Given the description of an element on the screen output the (x, y) to click on. 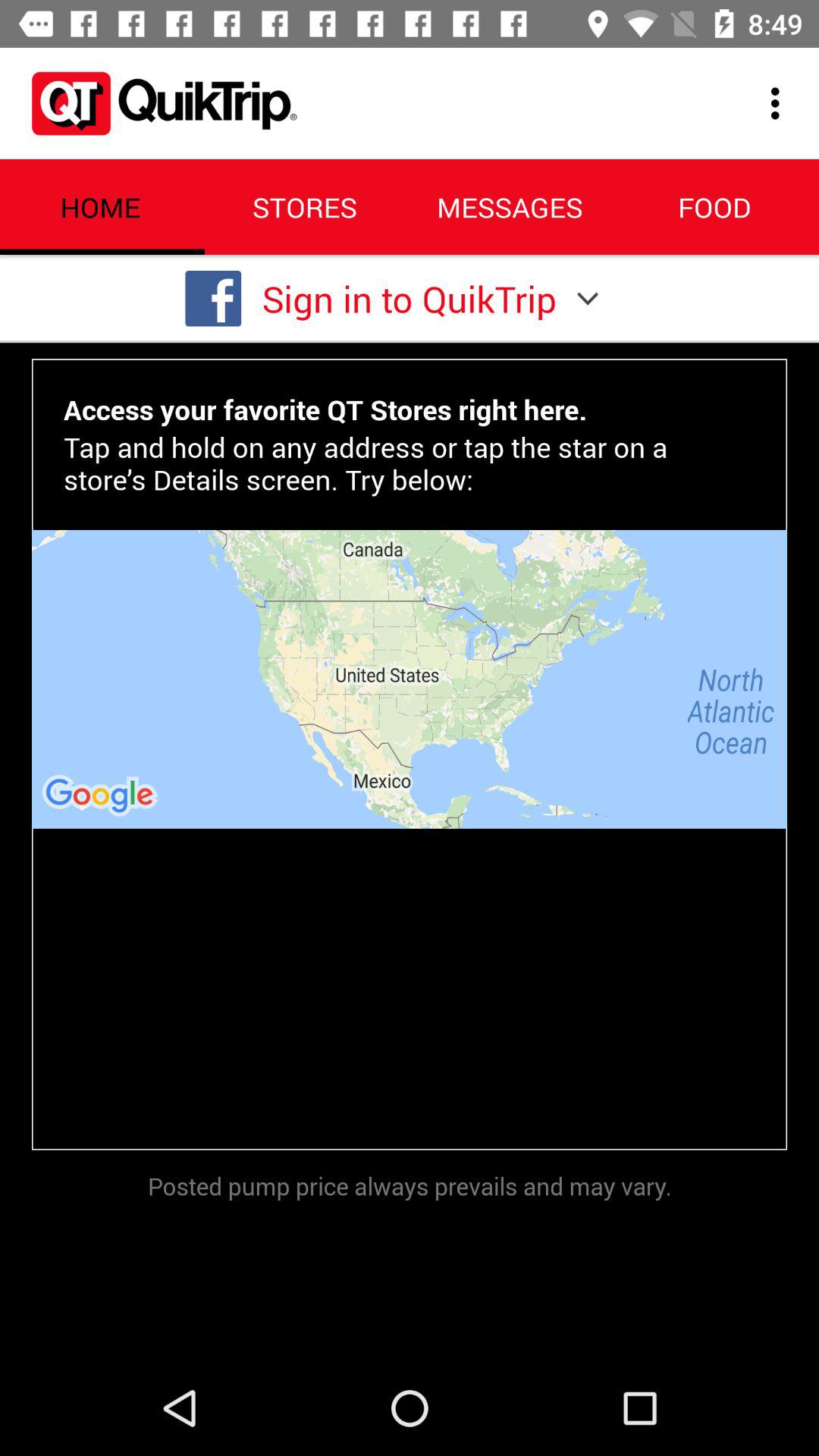
press icon above the food (779, 103)
